Given the description of an element on the screen output the (x, y) to click on. 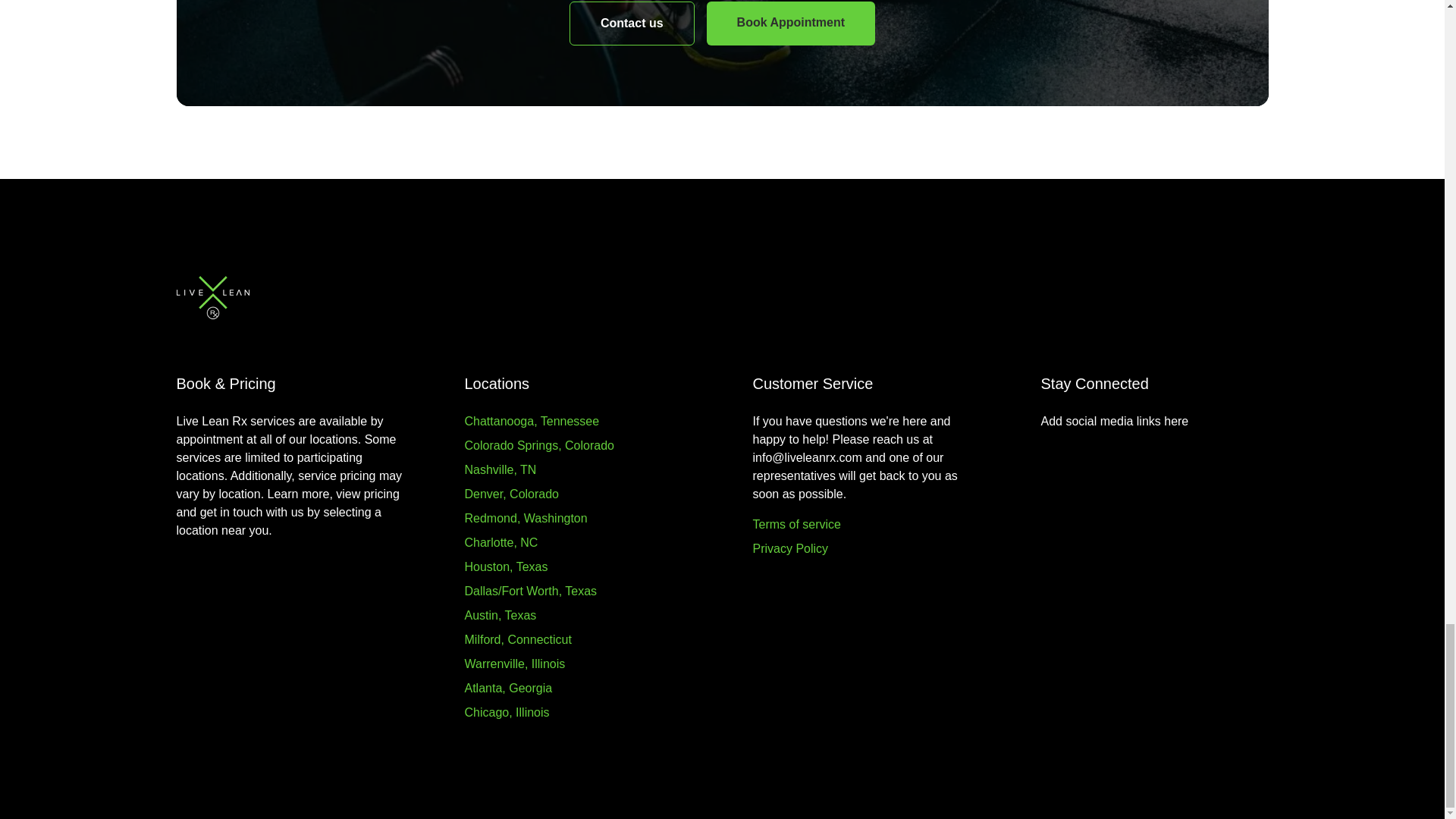
Chattanooga, Tennessee (531, 420)
Contact us (631, 23)
Book Appointment (791, 23)
